Given the description of an element on the screen output the (x, y) to click on. 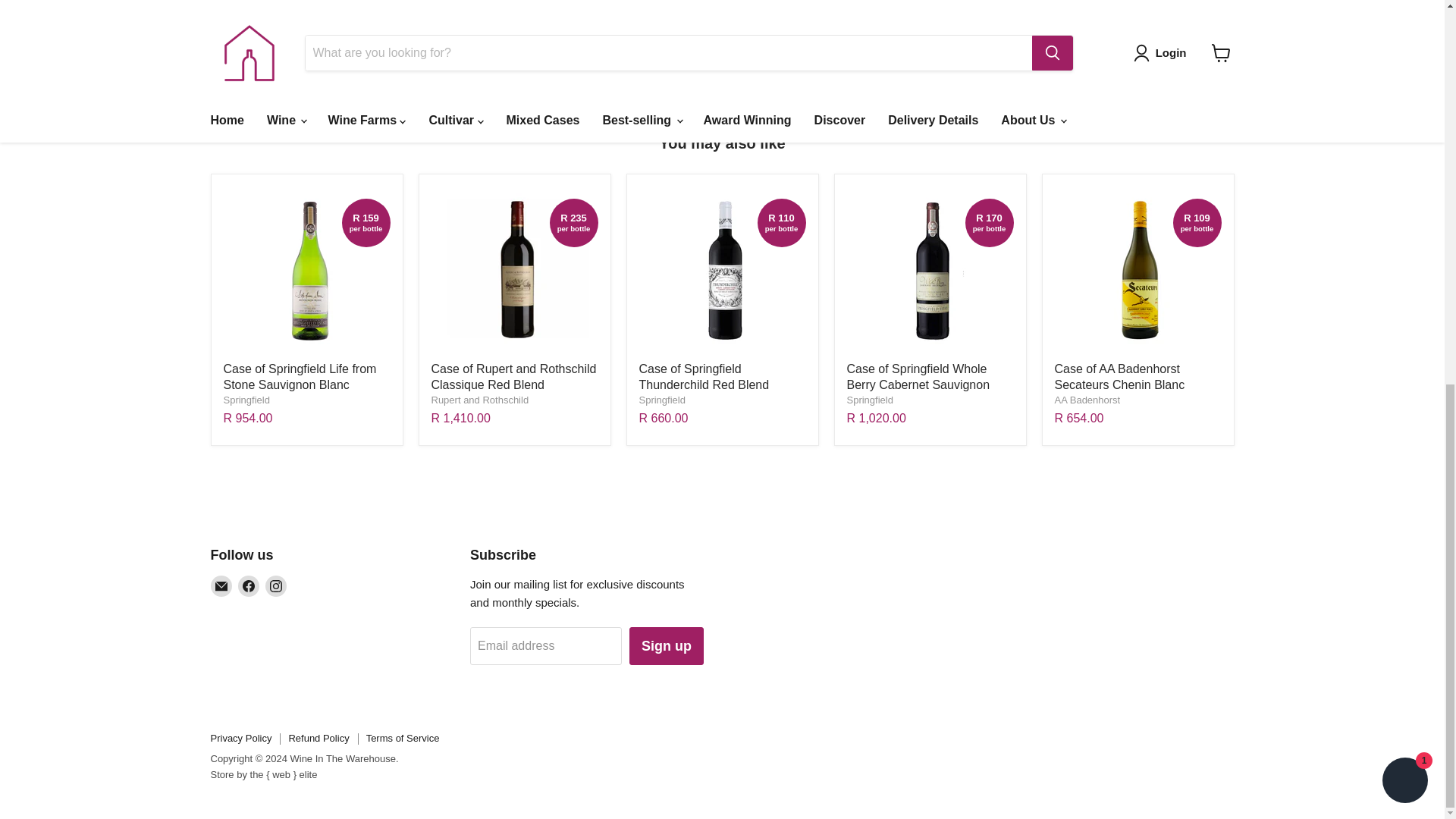
Springfield (868, 399)
Facebook (248, 586)
Springfield (661, 399)
Email (221, 586)
Instagram (275, 586)
Shopify online store chat (1404, 60)
Rupert and Rothschild (479, 399)
AA Badenhorst (1086, 399)
Springfield (245, 399)
